Given the description of an element on the screen output the (x, y) to click on. 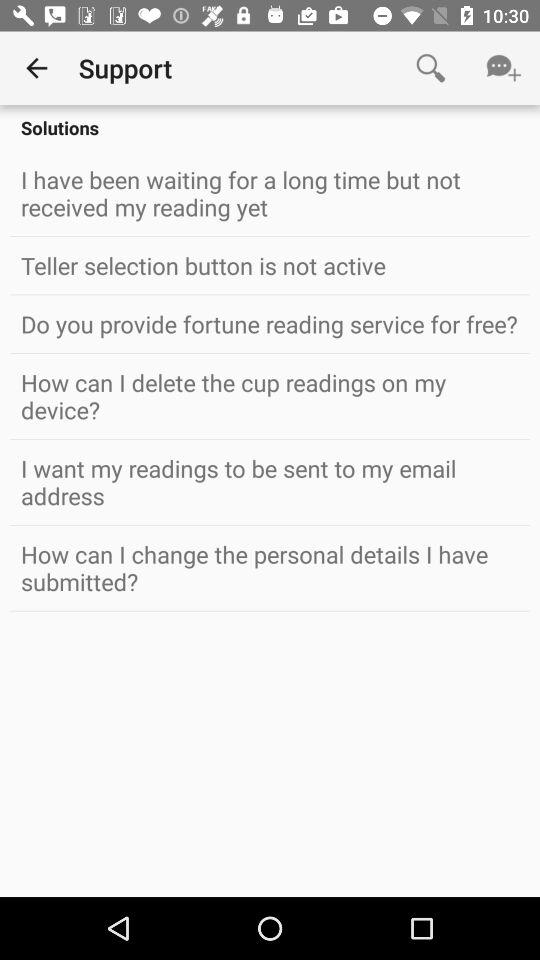
select icon above solutions (430, 67)
